Given the description of an element on the screen output the (x, y) to click on. 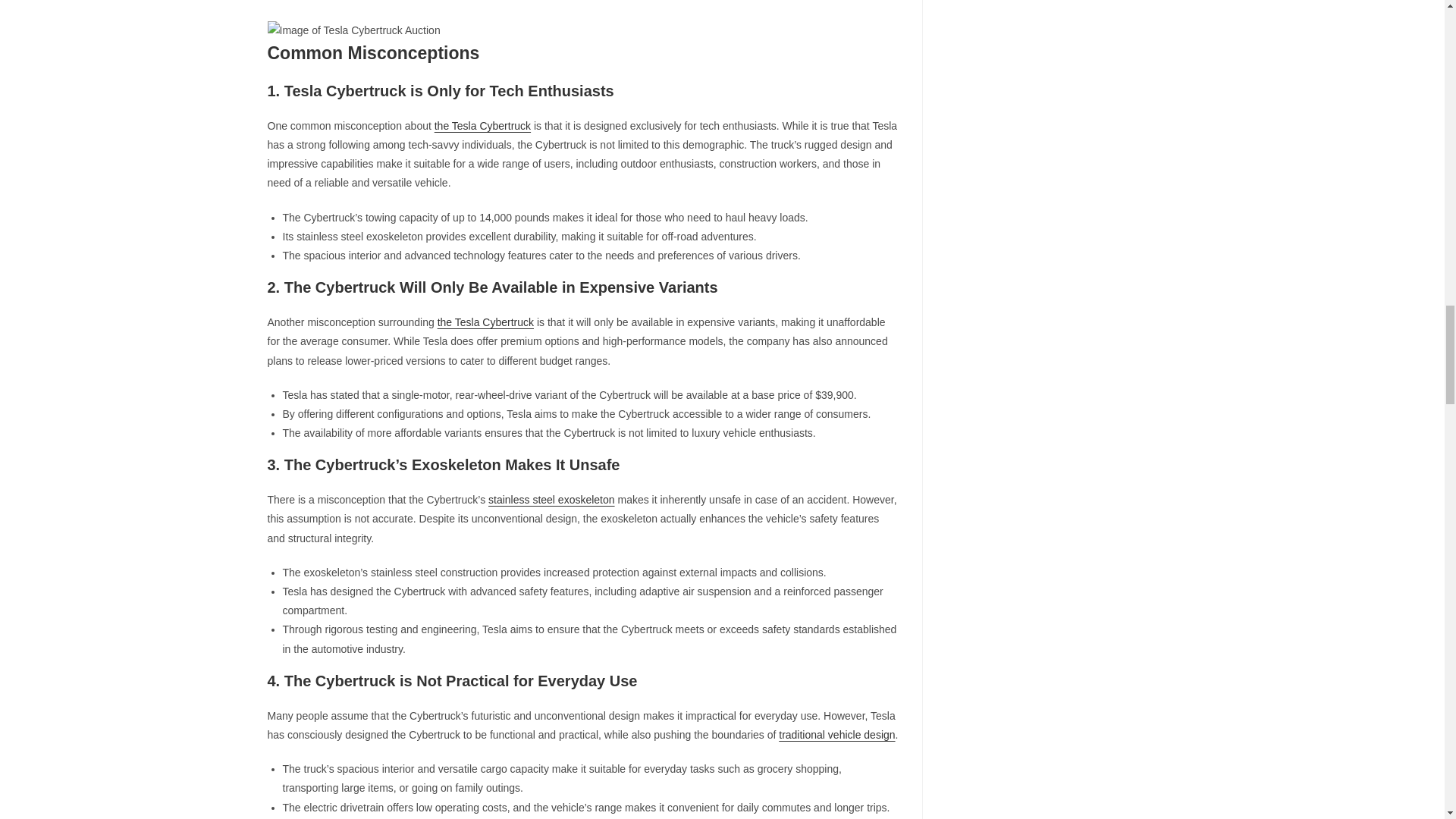
stainless steel exoskeleton (550, 499)
the Tesla Cybertruck (486, 322)
traditional vehicle design (836, 734)
Tesla Cybertruck Auction (352, 30)
the Tesla Cybertruck (482, 125)
